Given the description of an element on the screen output the (x, y) to click on. 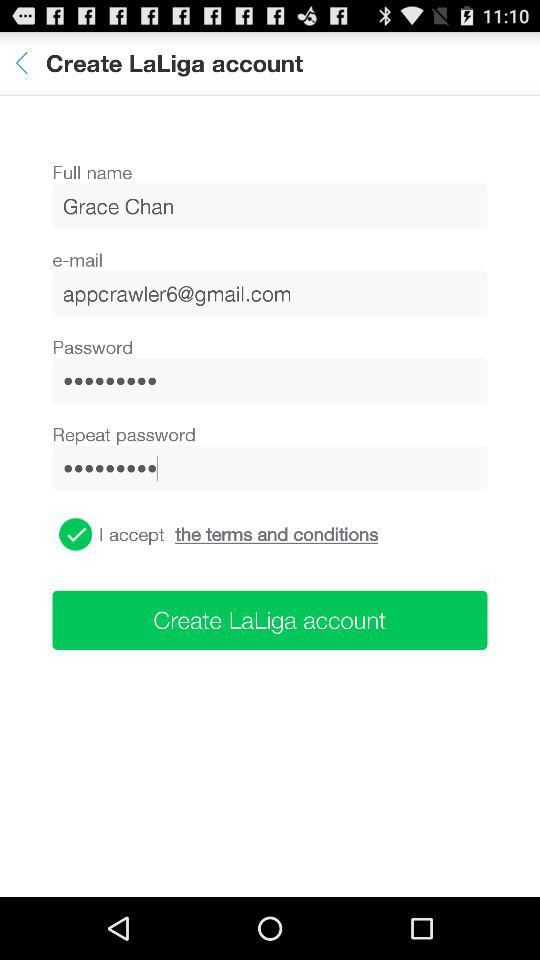
turn off item above the password icon (269, 293)
